Given the description of an element on the screen output the (x, y) to click on. 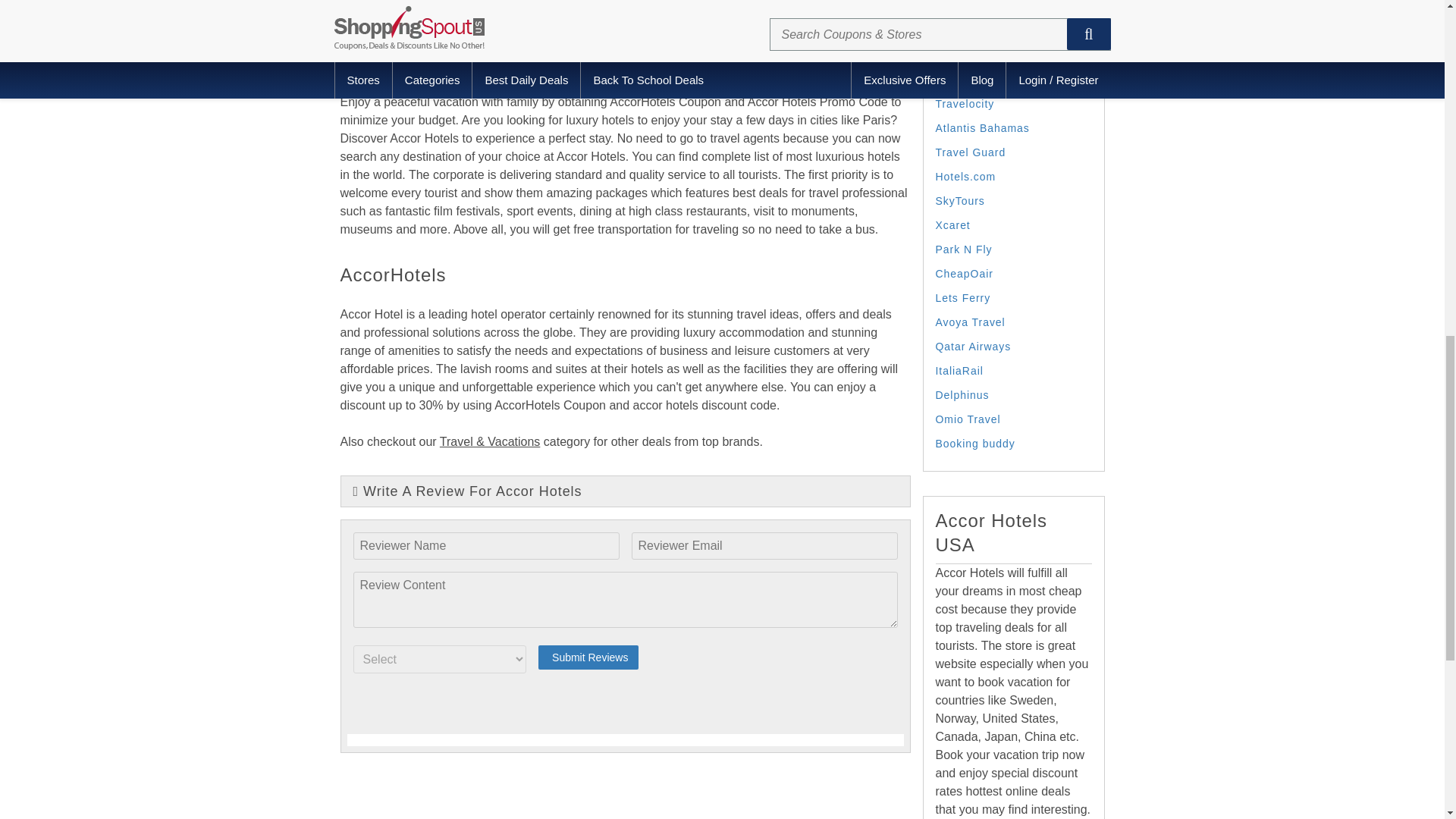
ParisCityVision (976, 79)
Hotels.com (965, 176)
ItaliaRail (960, 370)
CheapOair (964, 273)
Adrenaline (965, 6)
Expedia (957, 30)
Avoya Travel (971, 322)
Qatar Airways (973, 346)
Travel Guard (971, 152)
Delphinus (963, 395)
Travelocity (965, 103)
Xcaret (953, 224)
Atlantis Bahamas (982, 128)
Submit Reviews (588, 657)
SkyTours (960, 200)
